Given the description of an element on the screen output the (x, y) to click on. 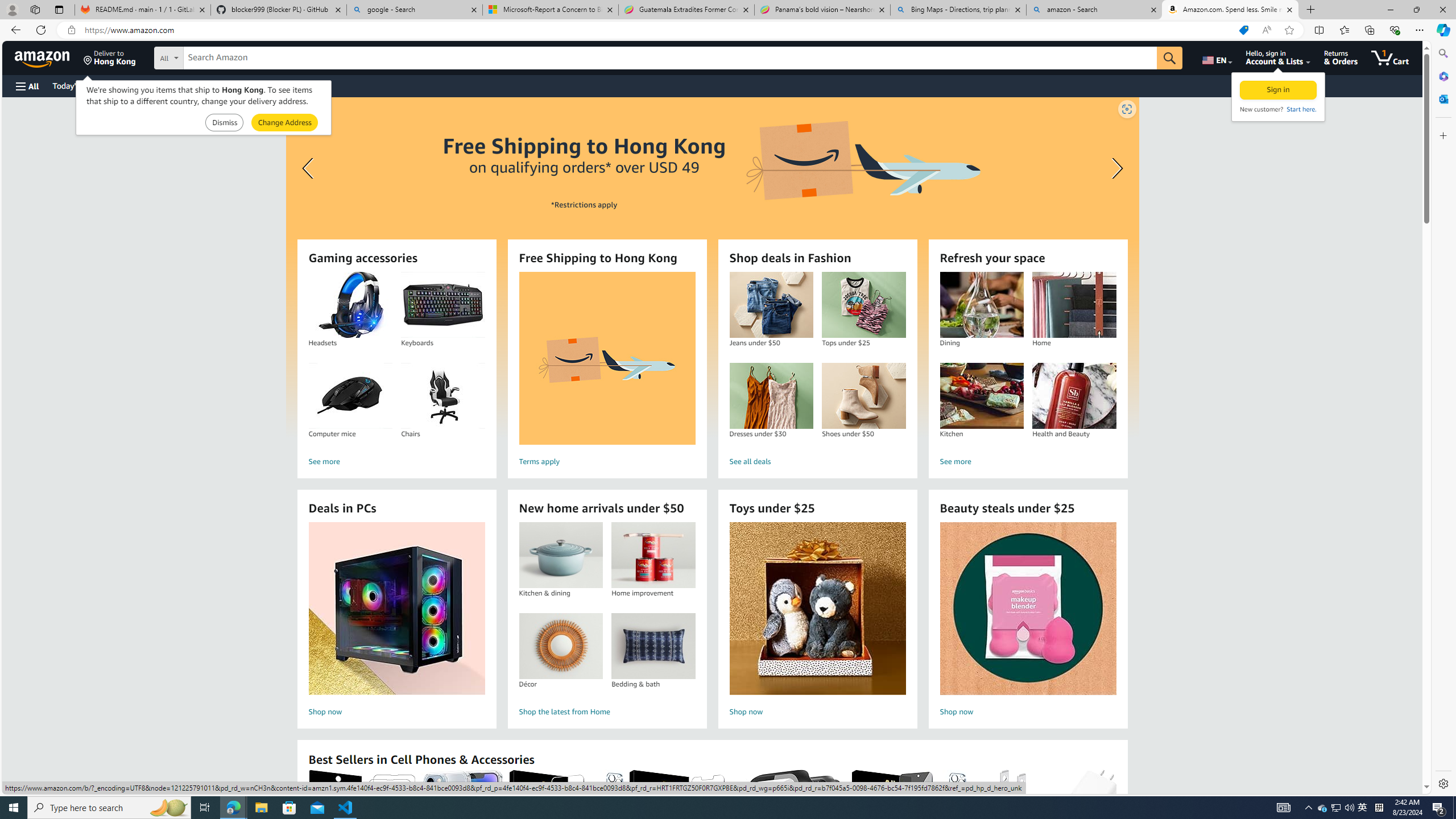
Deliver to Hong Kong (109, 57)
Free Shipping to Hong Kong Learn more (711, 267)
Submit (284, 122)
Toys under $25 Shop now (817, 620)
Bedding & bath (653, 645)
Free Shipping to Hong Kong Learn more (711, 267)
Customer Service (145, 85)
